Given the description of an element on the screen output the (x, y) to click on. 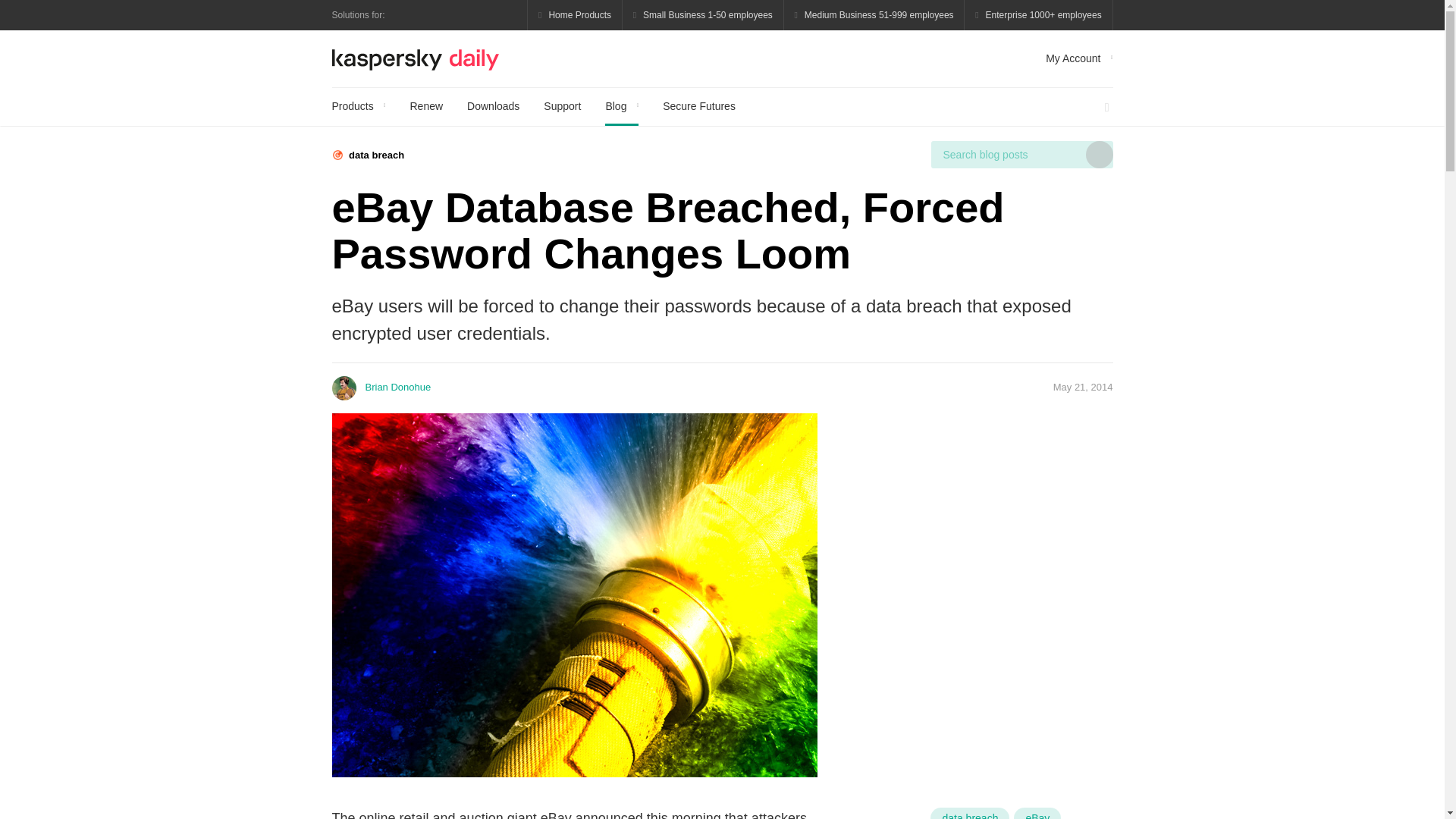
Medium Business 51-999 employees (874, 15)
Home Products (575, 15)
Secure Futures (698, 106)
Support (561, 106)
Products (358, 106)
My Account (1078, 58)
Kaspersky official blog (415, 58)
Small Business 1-50 employees (703, 15)
font-icons icon-small-business (703, 15)
Kaspersky official blog (415, 58)
